Given the description of an element on the screen output the (x, y) to click on. 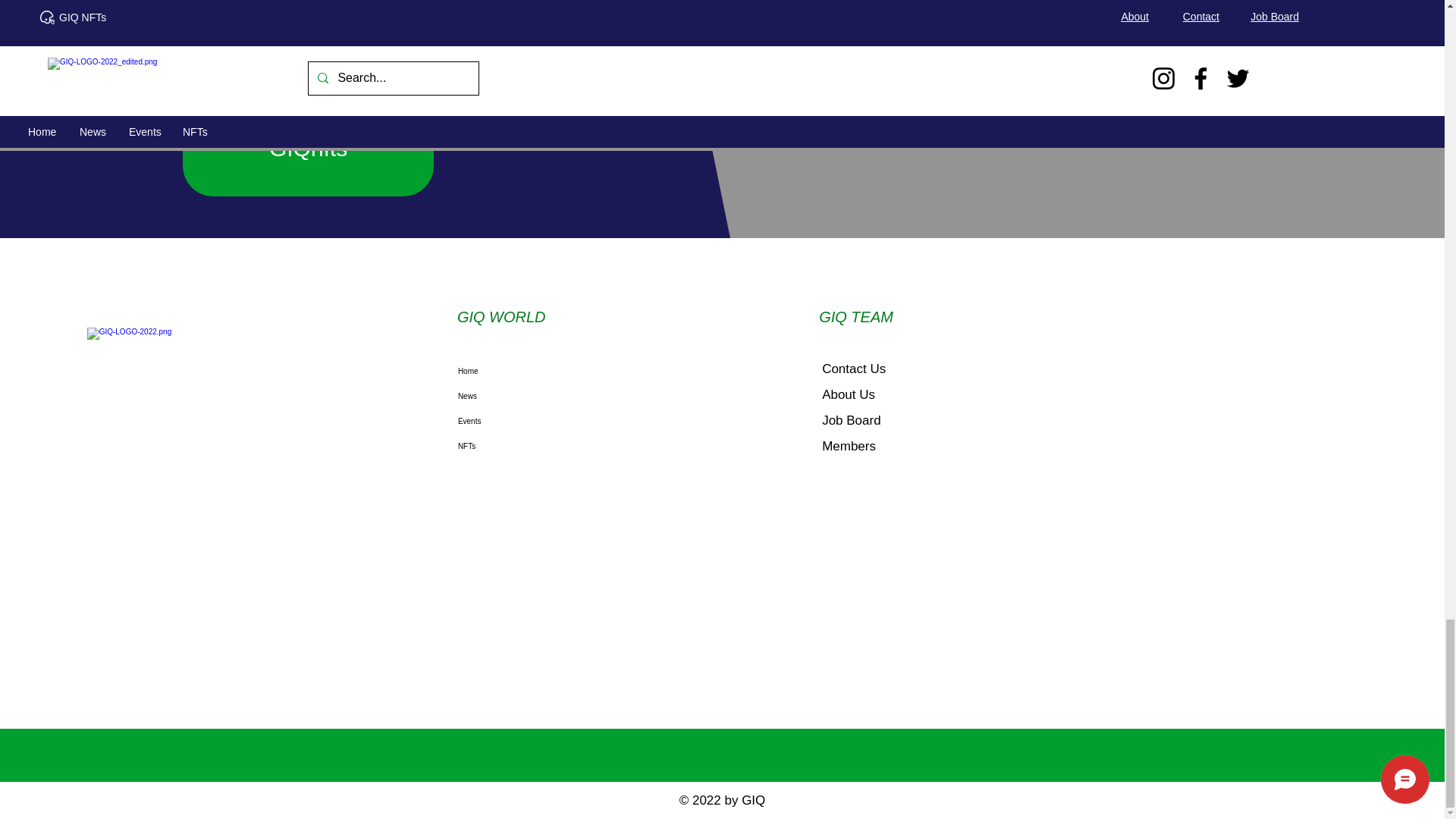
About Us (848, 394)
GIQnfts (308, 148)
News (541, 396)
Contact Us (853, 368)
Members (849, 445)
NFTs (541, 446)
Job Board (851, 420)
Home (541, 371)
Events (541, 421)
